Given the description of an element on the screen output the (x, y) to click on. 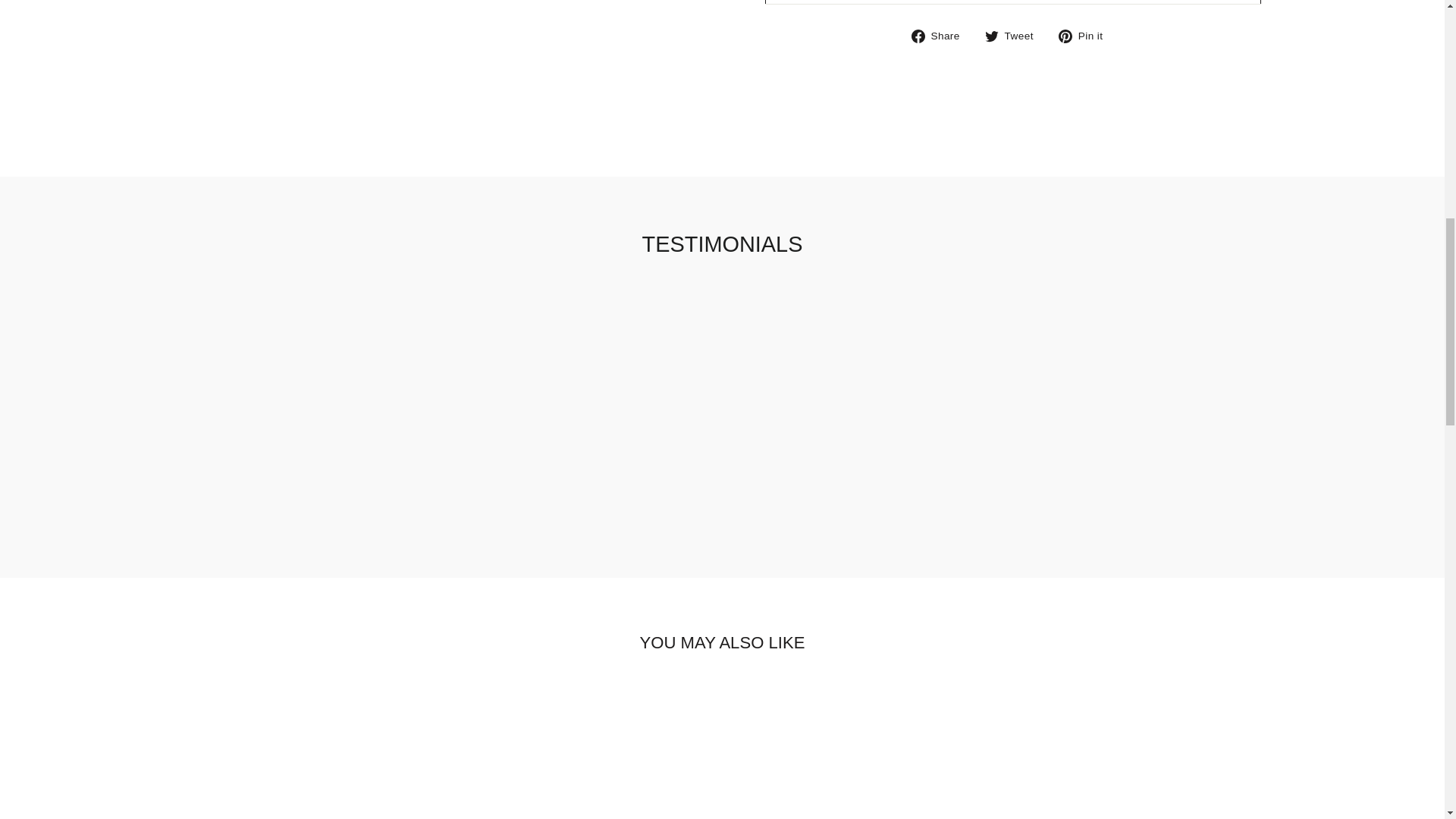
Pin on Pinterest (1085, 35)
Tweet on Twitter (1015, 35)
Share on Facebook (941, 35)
